Given the description of an element on the screen output the (x, y) to click on. 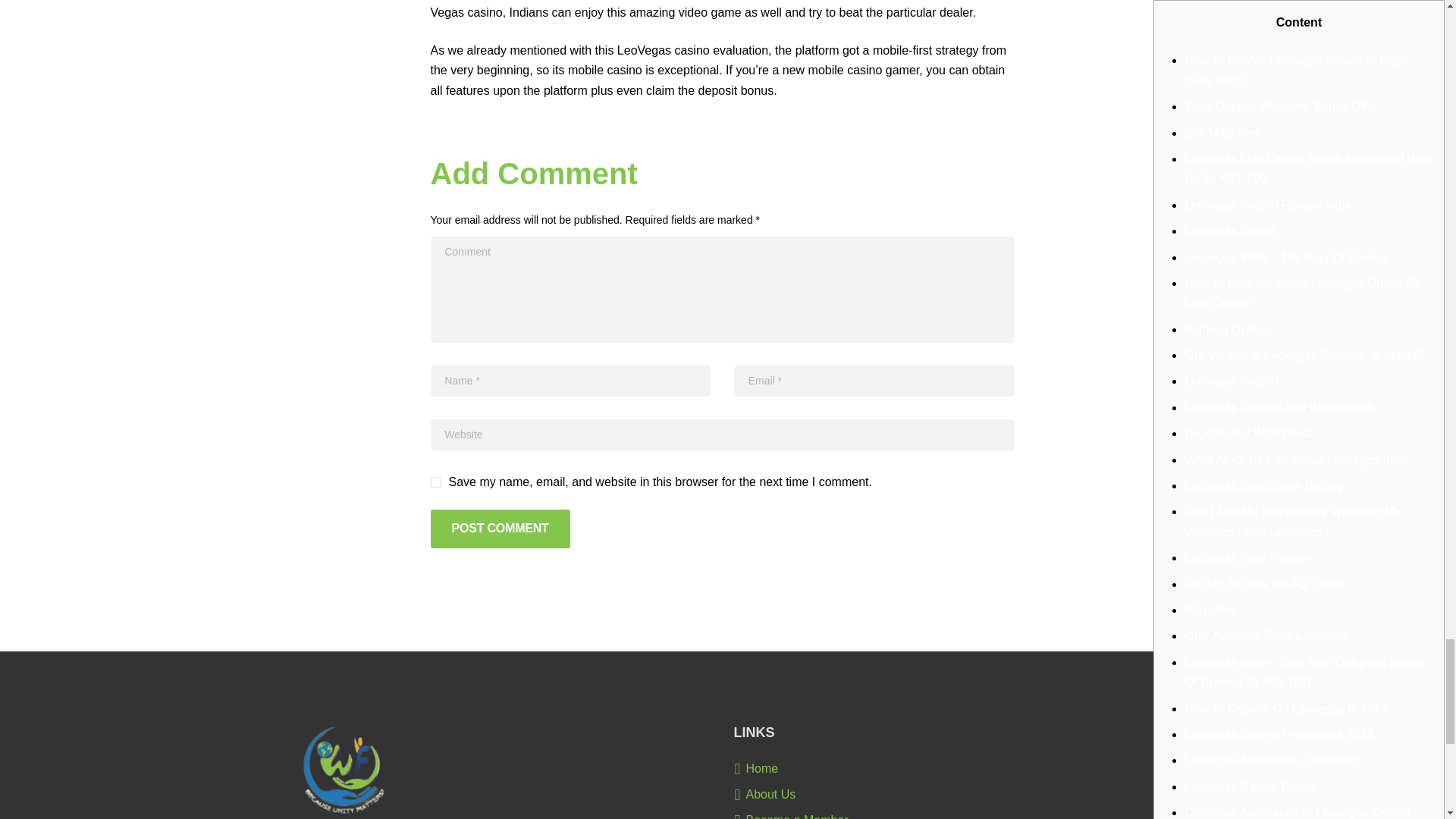
Post Comment (500, 574)
